Given the description of an element on the screen output the (x, y) to click on. 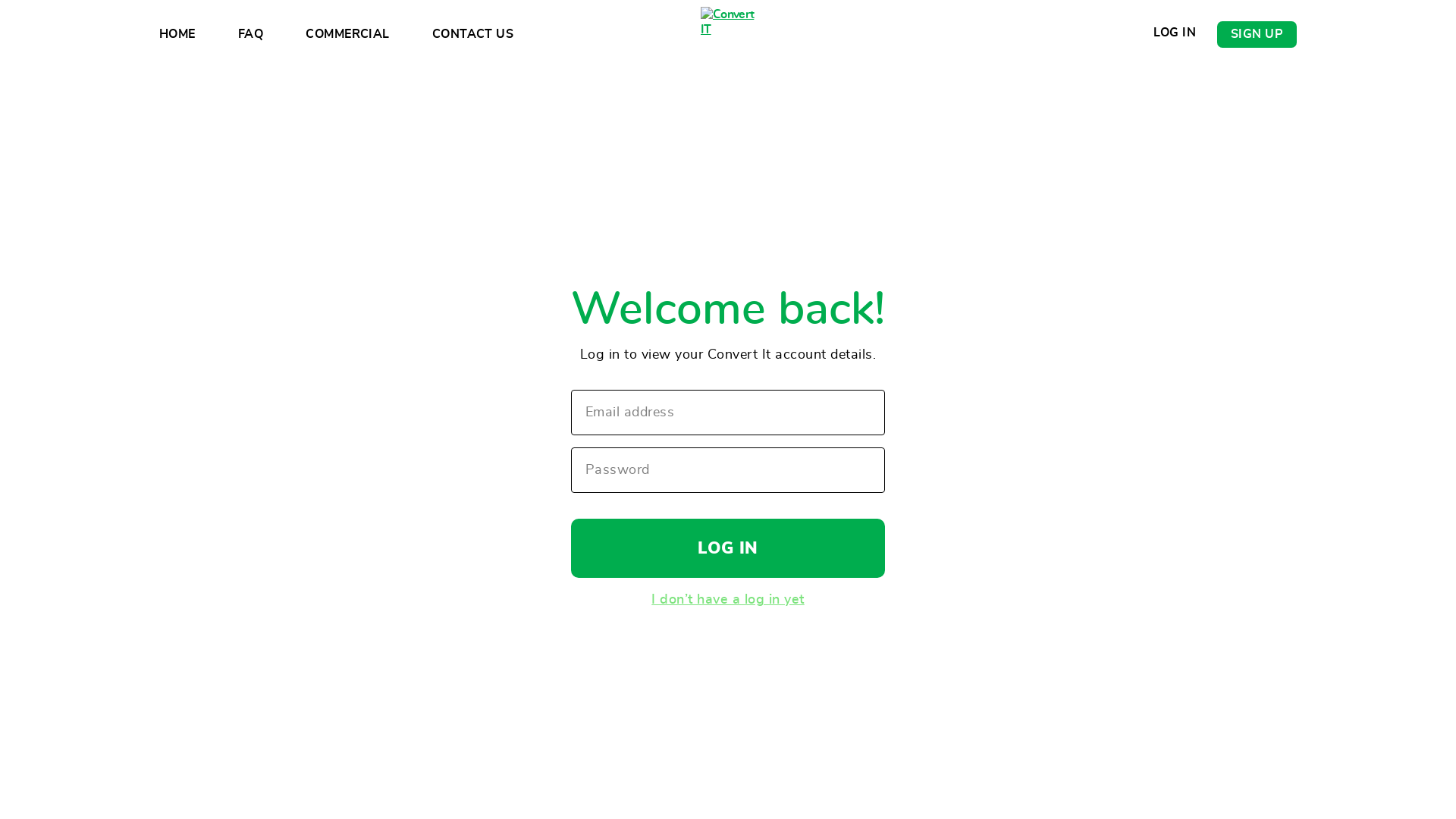
SIGN UP Element type: text (1256, 34)
LOG IN Element type: text (1174, 32)
HOME Element type: text (176, 33)
LOG IN Element type: text (727, 547)
CONTACT US Element type: text (472, 33)
FAQ Element type: text (250, 33)
COMMERCIAL Element type: text (347, 33)
